Given the description of an element on the screen output the (x, y) to click on. 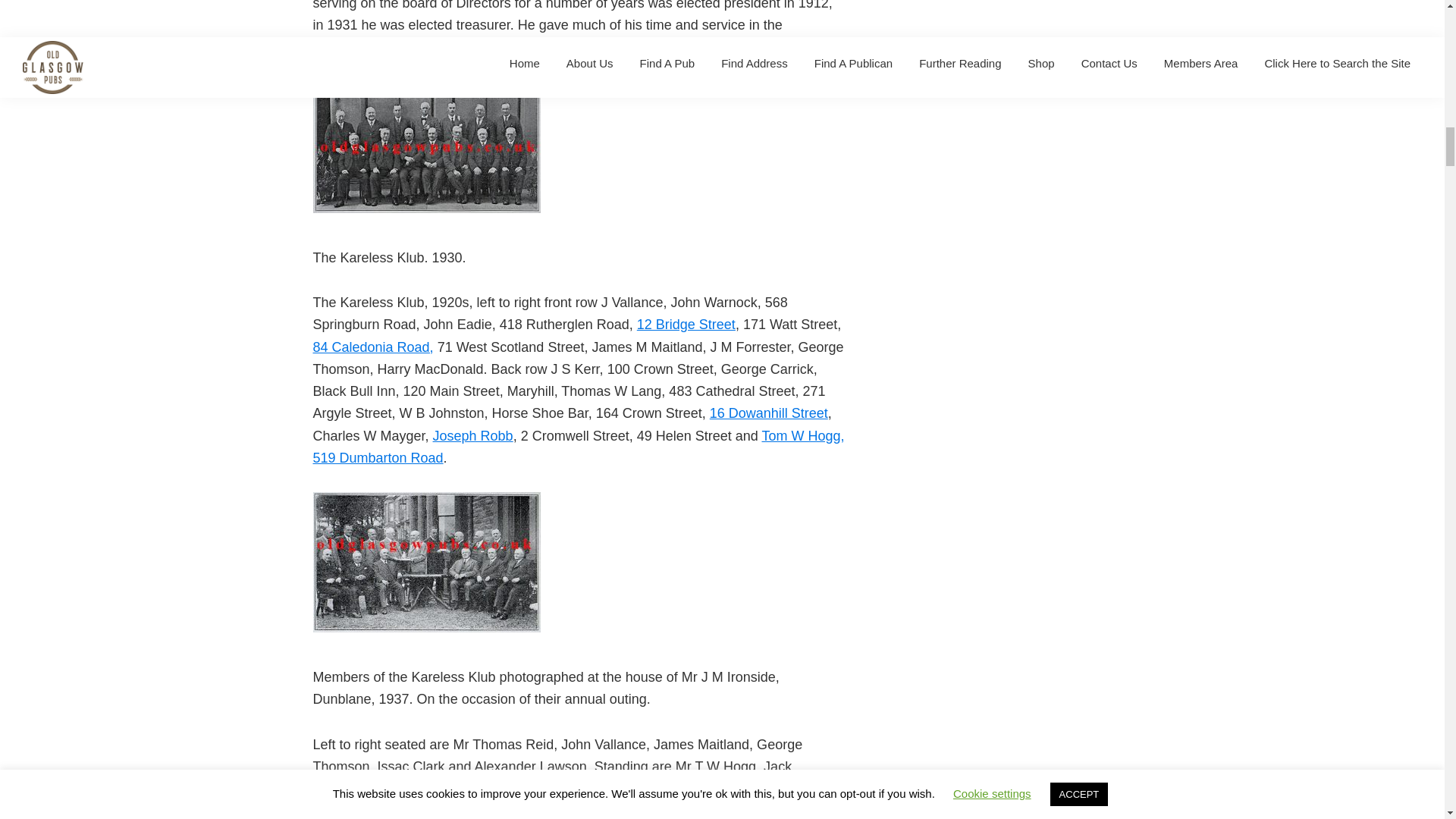
12 Bridge Street (686, 324)
Joseph Robb (472, 435)
Tom W Hogg, 519 Dumbarton Road (578, 446)
84 Caledonia Road, (372, 346)
16 Dowanhill Street (769, 412)
